Given the description of an element on the screen output the (x, y) to click on. 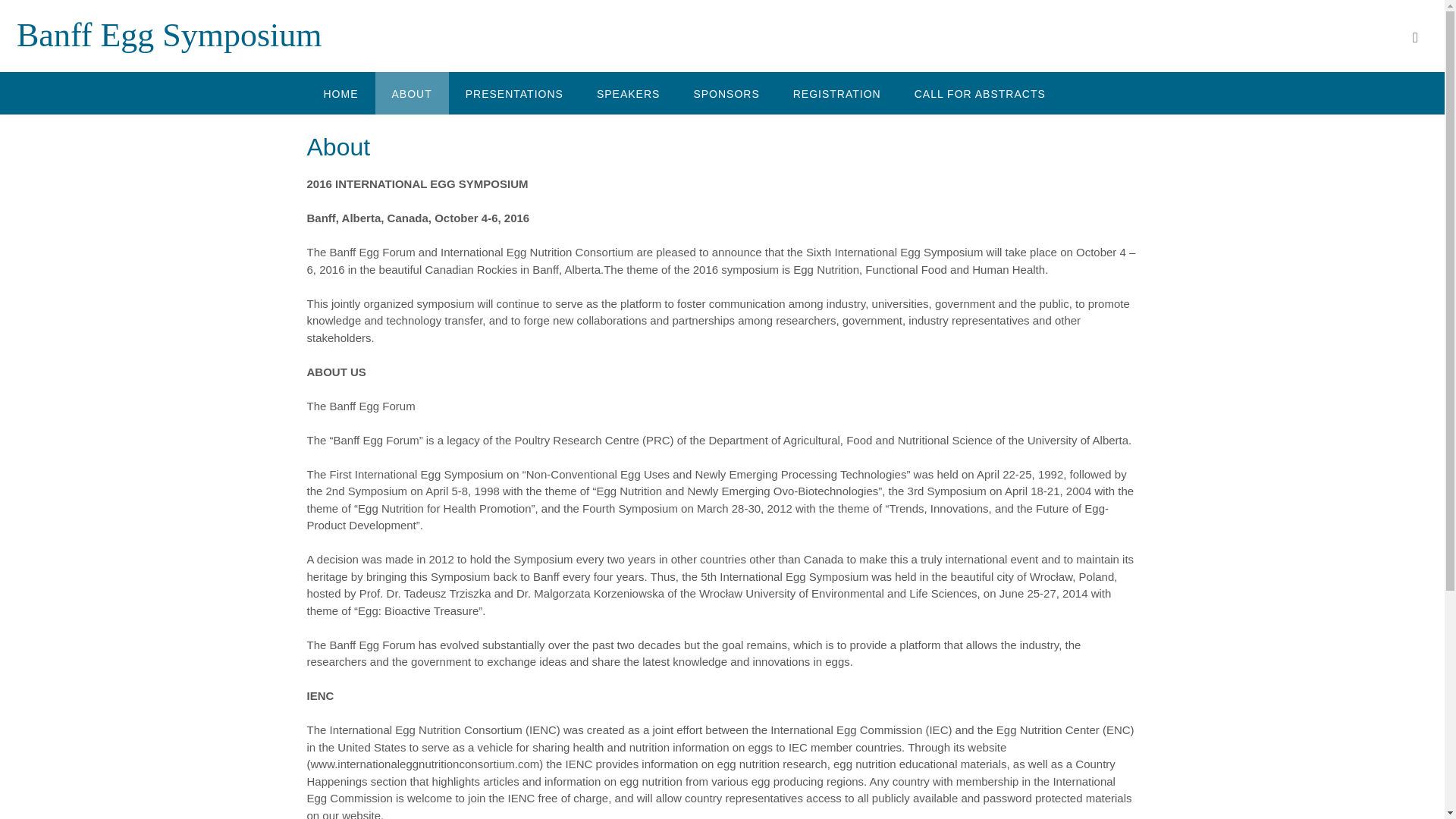
SPEAKERS (628, 92)
CALL FOR ABSTRACTS (980, 92)
CONTACT (350, 134)
Banff Egg Symposium  (168, 35)
PRESENTATIONS (513, 92)
SPONSORS (726, 92)
REGISTRATION (837, 92)
HOME (339, 92)
ABOUT (411, 92)
Banff Egg Symposium (168, 35)
